Given the description of an element on the screen output the (x, y) to click on. 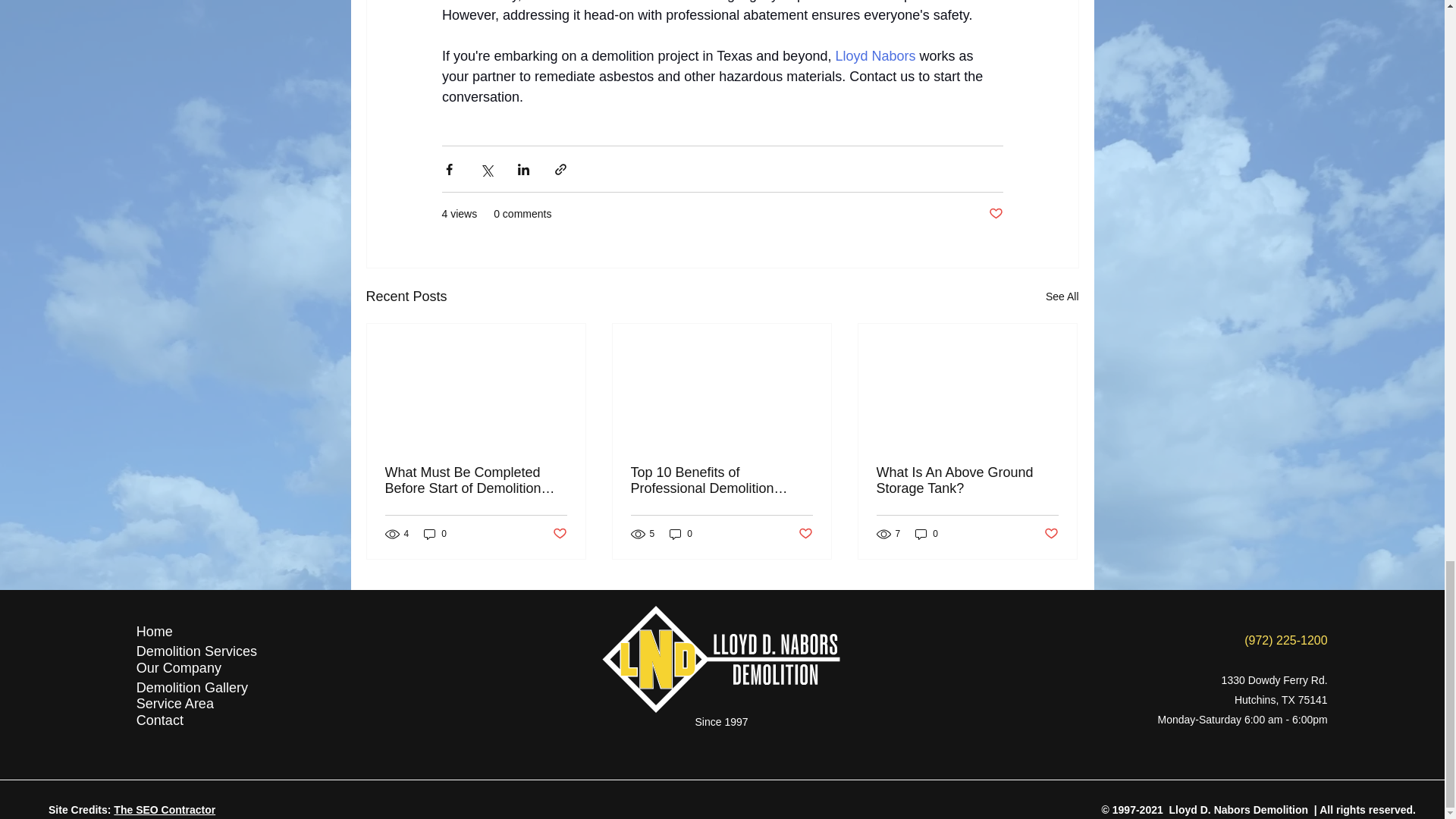
See All (1061, 296)
Lloyd Nabors (874, 55)
Post not marked as liked (558, 534)
Post not marked as liked (995, 213)
0 (435, 534)
